Given the description of an element on the screen output the (x, y) to click on. 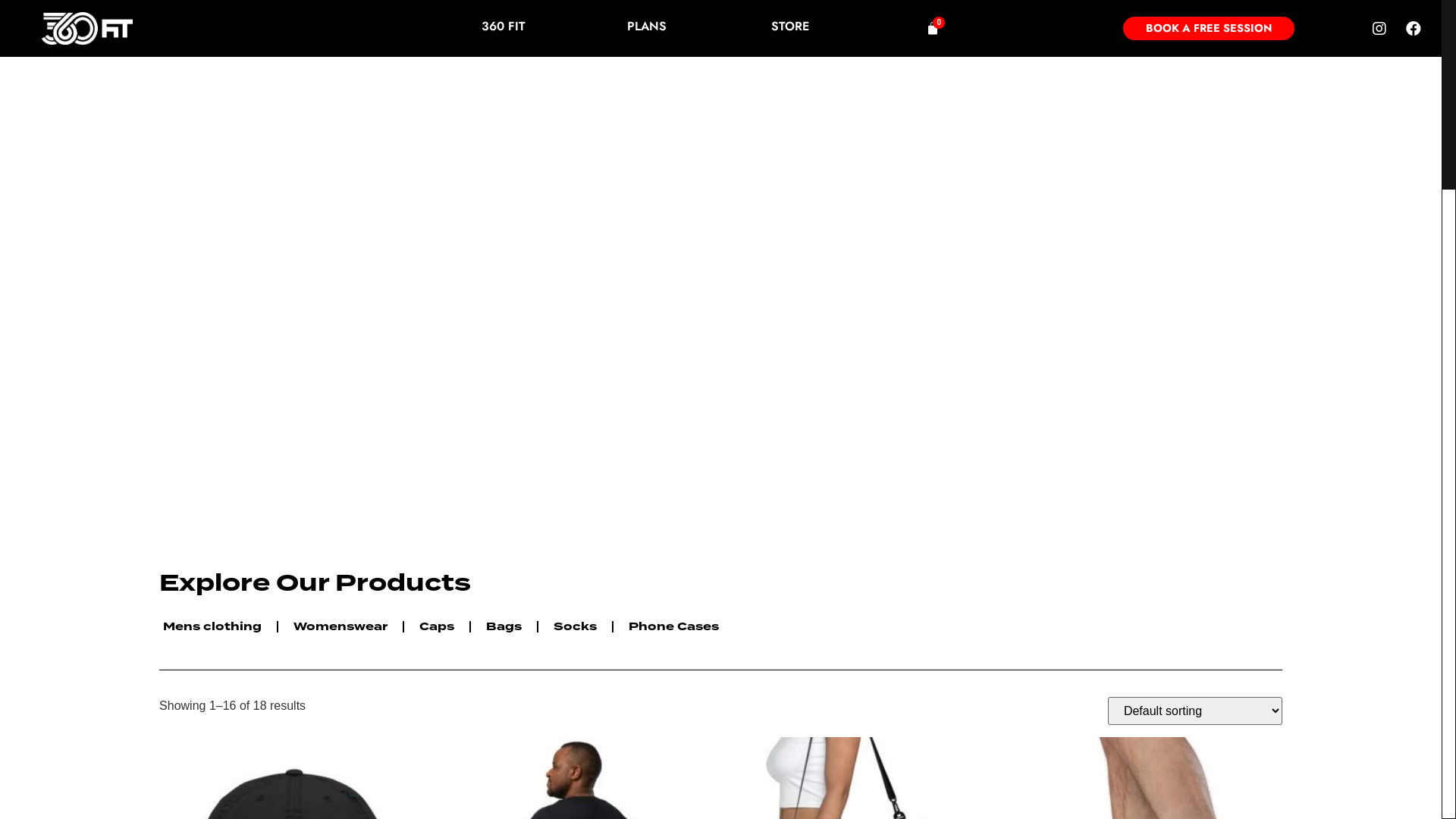
Bags Element type: text (503, 627)
Mens clothing Element type: text (211, 627)
PLANS Element type: text (646, 25)
BOOK A FREE SESSION Element type: text (1208, 27)
Socks Element type: text (574, 627)
0 Element type: text (932, 27)
360 FIT Element type: text (503, 26)
Womenswear Element type: text (340, 627)
Caps Element type: text (436, 627)
Phone Cases Element type: text (673, 627)
STORE Element type: text (790, 25)
